Given the description of an element on the screen output the (x, y) to click on. 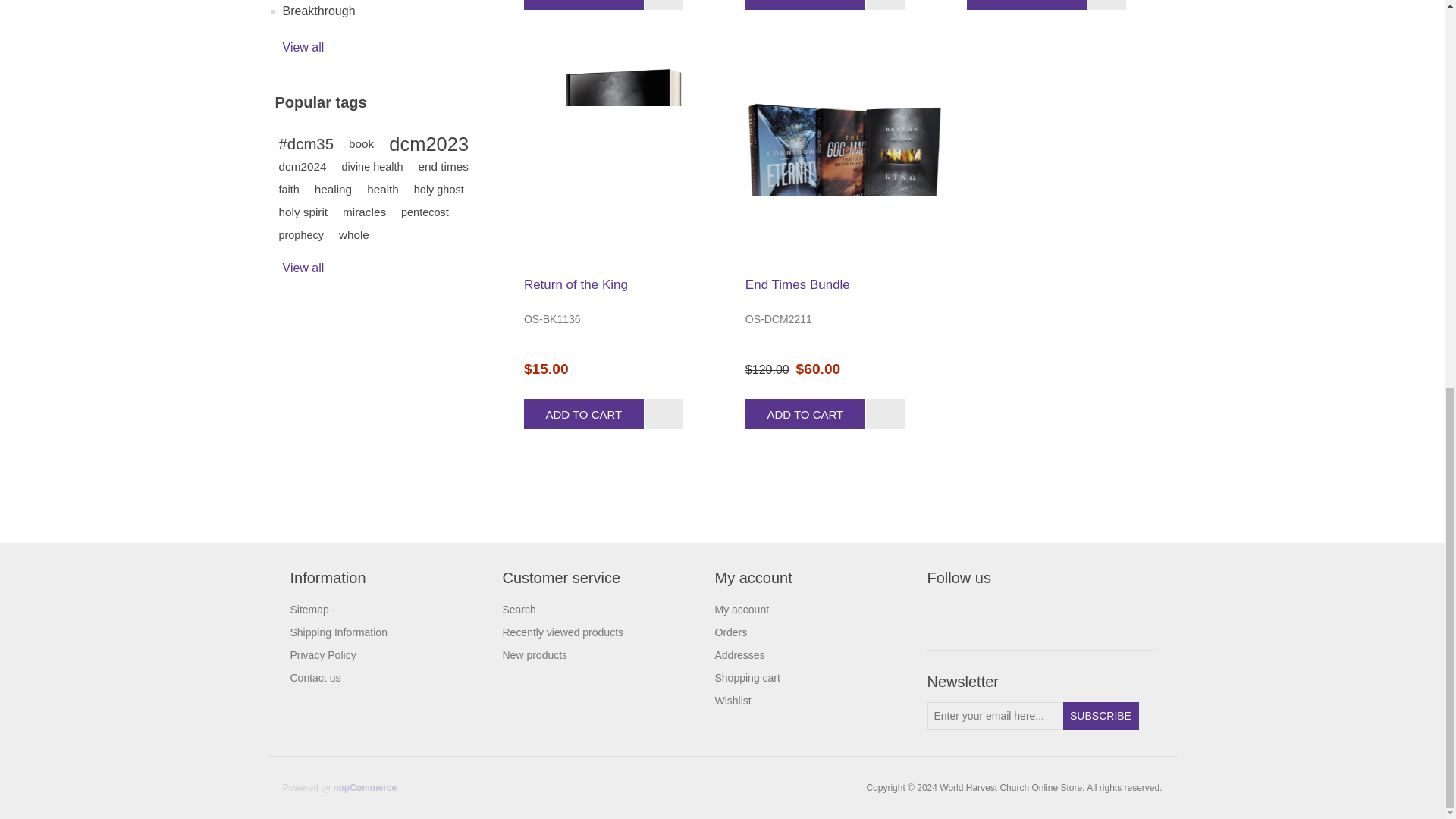
Add to wishlist (663, 4)
Add to wishlist (884, 4)
Add to wishlist (1106, 4)
Return of the King (623, 154)
